Given the description of an element on the screen output the (x, y) to click on. 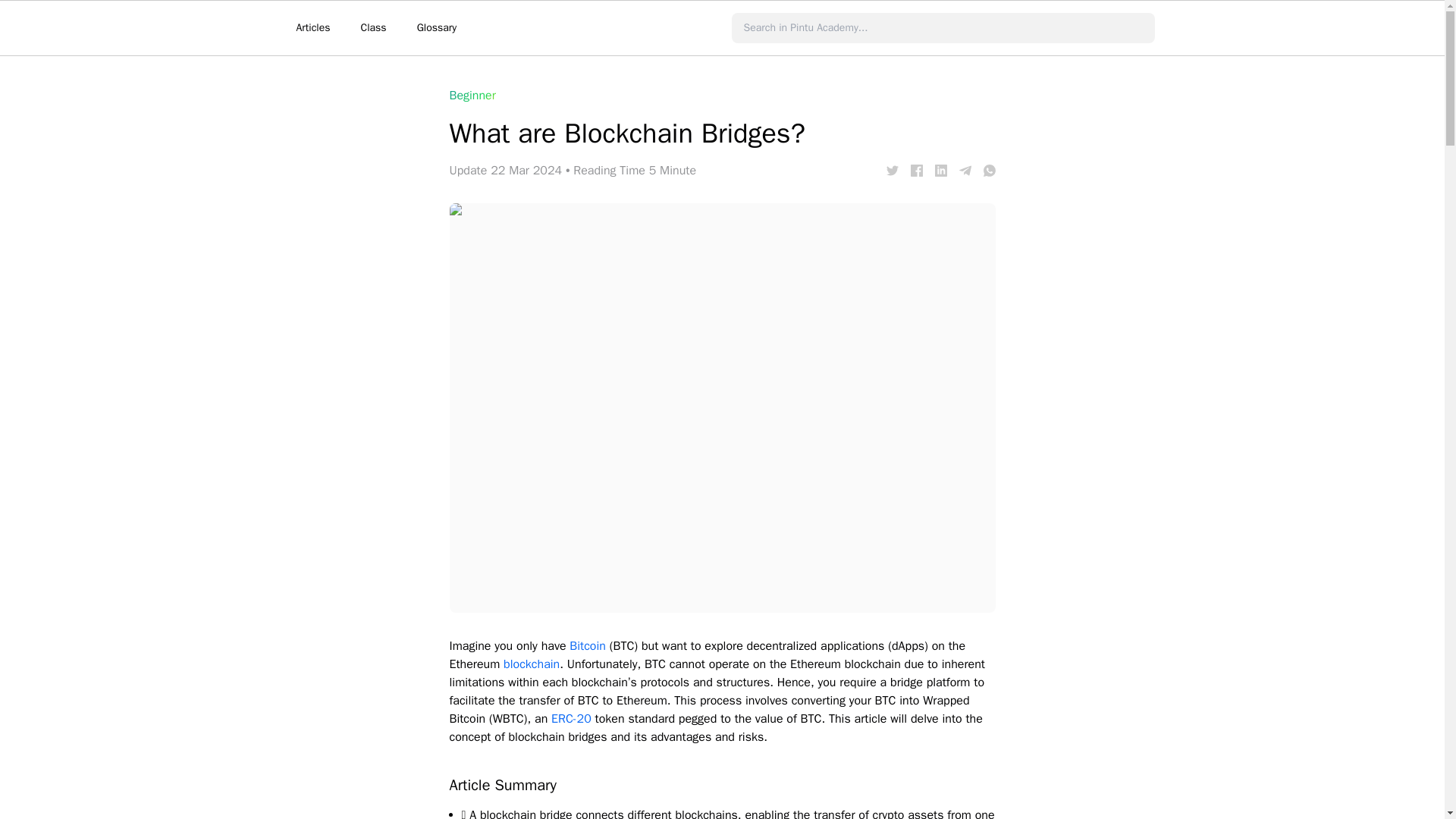
ERC-20 (571, 718)
What are Blockchain Bridges? (915, 170)
Bitcoin (587, 645)
Glossary (436, 27)
Beginner (471, 95)
blockchain (531, 663)
